Given the description of an element on the screen output the (x, y) to click on. 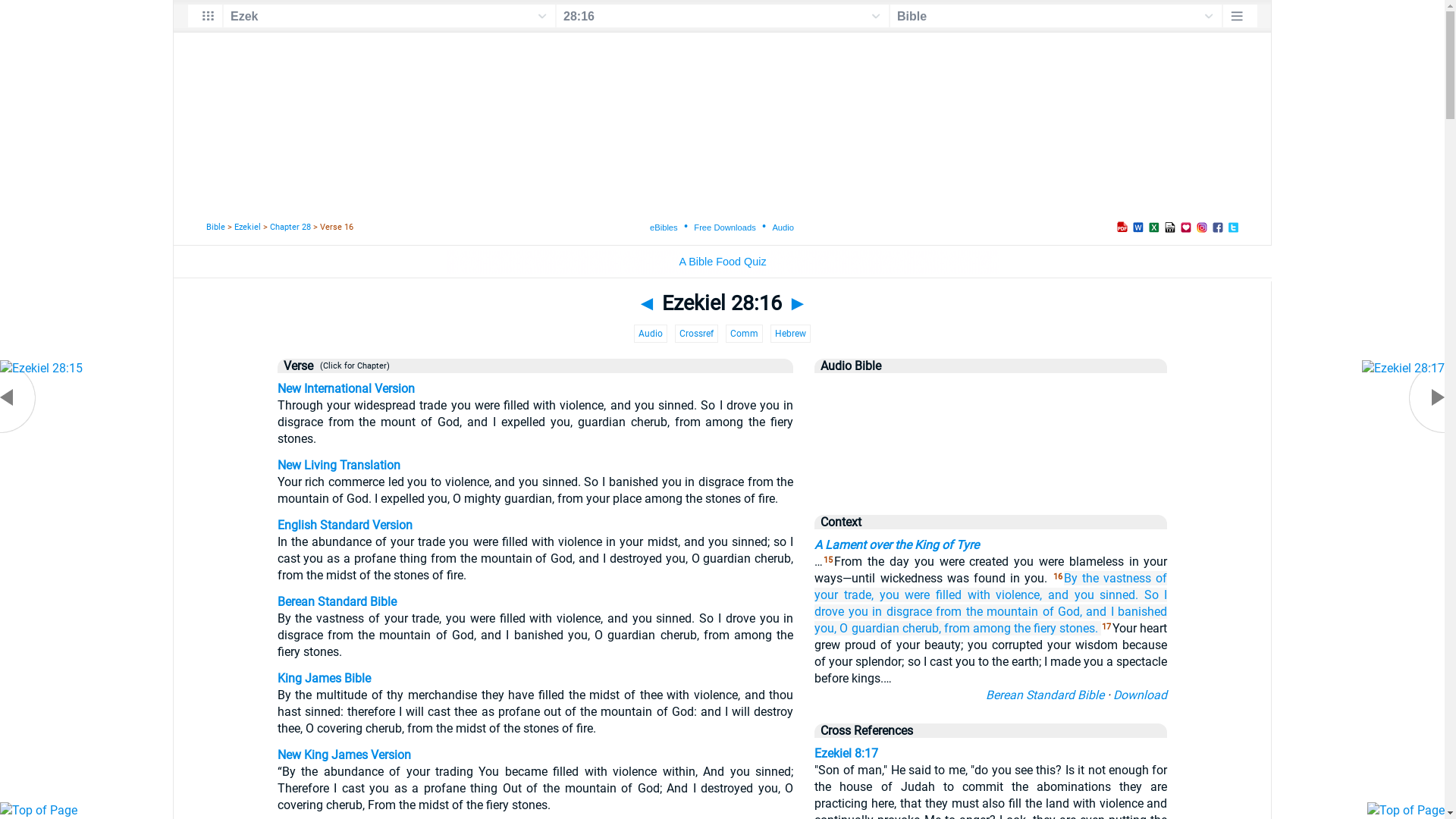
were filled Element type: text (932, 594)
Berean Standard Bible Element type: text (336, 601)
and you sinned. Element type: text (1093, 594)
cherub, Element type: text (921, 628)
Download Element type: text (1140, 694)
English Standard Version Element type: text (344, 524)
New King James Version Element type: text (344, 754)
Ezekiel 28:15 Element type: hover (41, 367)
YouTube video player Element type: hover (990, 437)
with violence, Element type: text (1004, 594)
 Audio  Element type: text (650, 333)
from among Element type: text (977, 628)
 Comm  Element type: text (743, 333)
New International Version Element type: text (345, 388)
of God, Element type: text (1062, 611)
King James Bible Element type: text (323, 678)
New Living Translation Element type: text (338, 465)
Ezekiel 8:17 Element type: text (846, 753)
 Crossref  Element type: text (696, 333)
A Lament over the King of Tyre Element type: text (896, 544)
from the mountain Element type: text (986, 611)
Top of Page Element type: hover (1405, 810)
O guardian Element type: text (868, 628)
 Hebrew  Element type: text (790, 333)
Berean Standard Bible Element type: text (1044, 694)
Top of Page Element type: hover (38, 810)
So I drove you in disgrace Element type: text (990, 602)
of your trade, Element type: text (990, 586)
By the vastness Element type: text (1107, 578)
the fiery Element type: text (1034, 628)
and I banished you, Element type: text (990, 619)
Bible Element type: text (215, 227)
Ezekiel 28:17 Element type: hover (1402, 367)
Ezekiel Element type: text (247, 227)
you Element type: text (889, 594)
Chapter 28 Element type: text (289, 227)
  (Click for Chapter) Element type: text (351, 366)
stones. Element type: text (1078, 628)
